Given the description of an element on the screen output the (x, y) to click on. 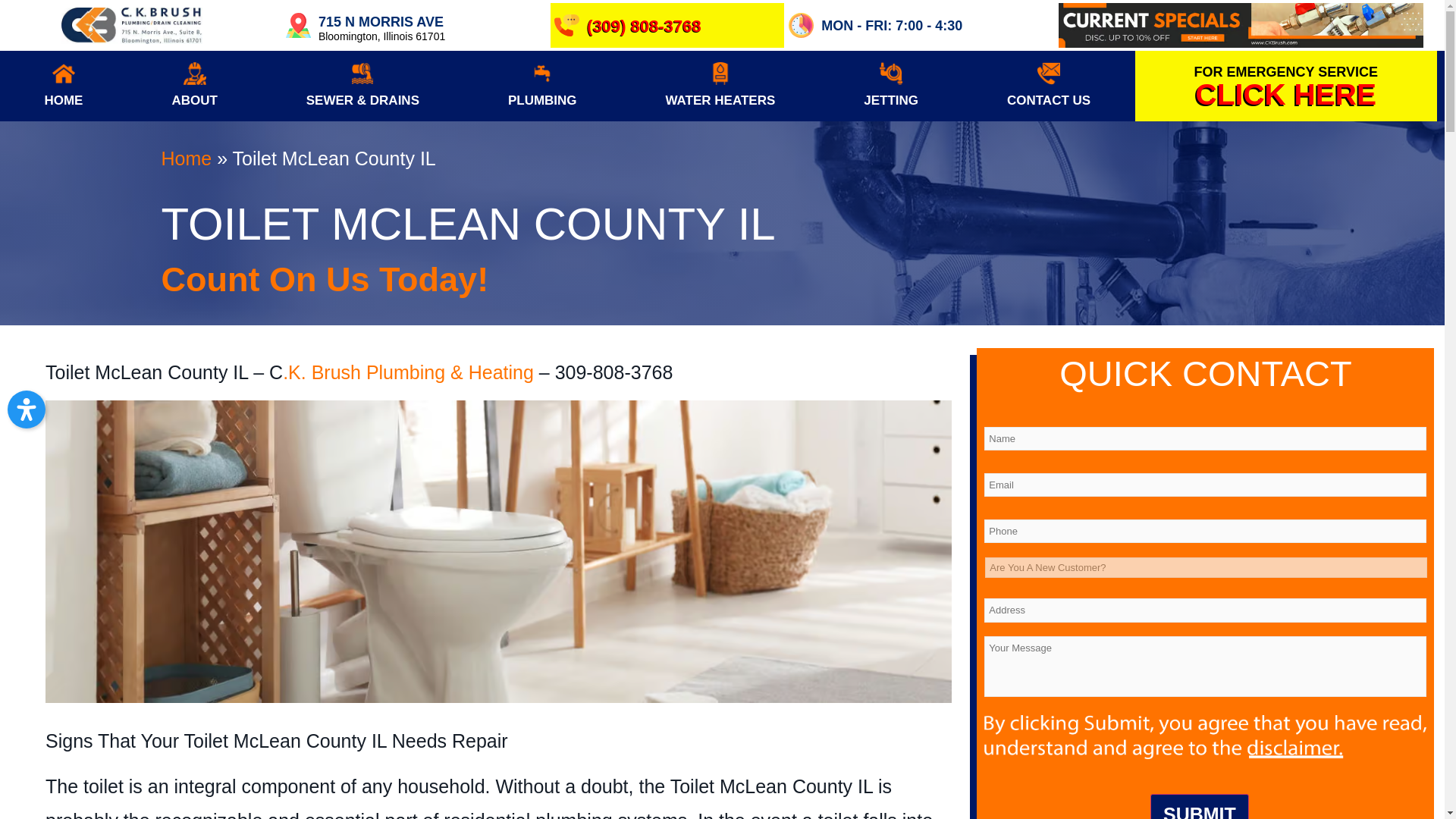
FOR EMERGENCY SERVICE (1285, 71)
PLUMBING (542, 85)
JETTING (890, 85)
Home (185, 158)
CONTACT US (1048, 85)
HOME (64, 85)
WATER HEATERS (720, 85)
ABOUT (195, 85)
CLICK HERE (1285, 93)
Submit (1199, 806)
Submit (1199, 806)
